Given the description of an element on the screen output the (x, y) to click on. 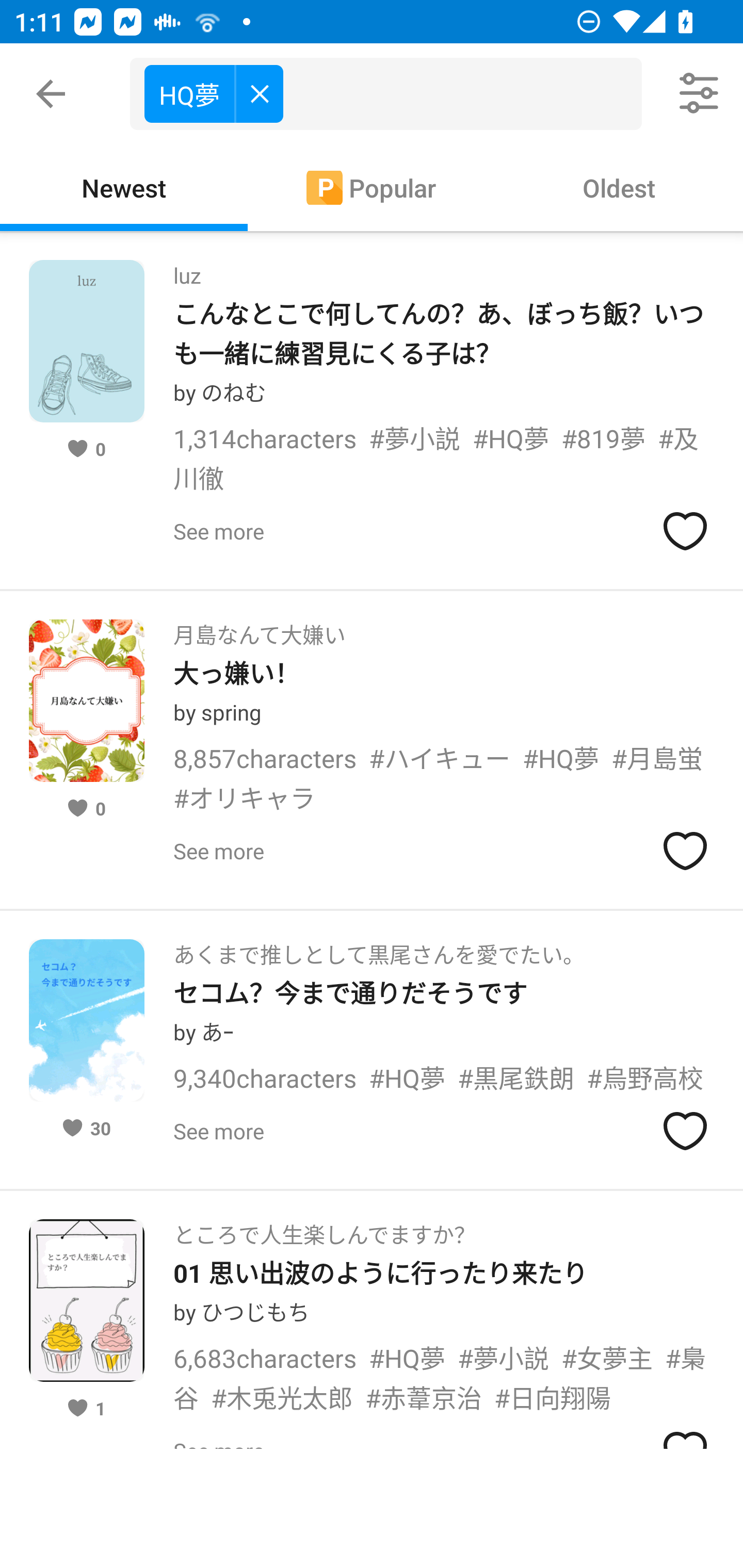
Navigate up (50, 93)
Filters (699, 93)
HQ夢 (213, 93)
[P] Popular (371, 187)
Oldest (619, 187)
luz (187, 269)
月島なんて大嫌い (259, 628)
あくまで推しとして黒尾さんを愛でたい。 (378, 948)
ところで人生楽しんでますか？ (324, 1228)
